Given the description of an element on the screen output the (x, y) to click on. 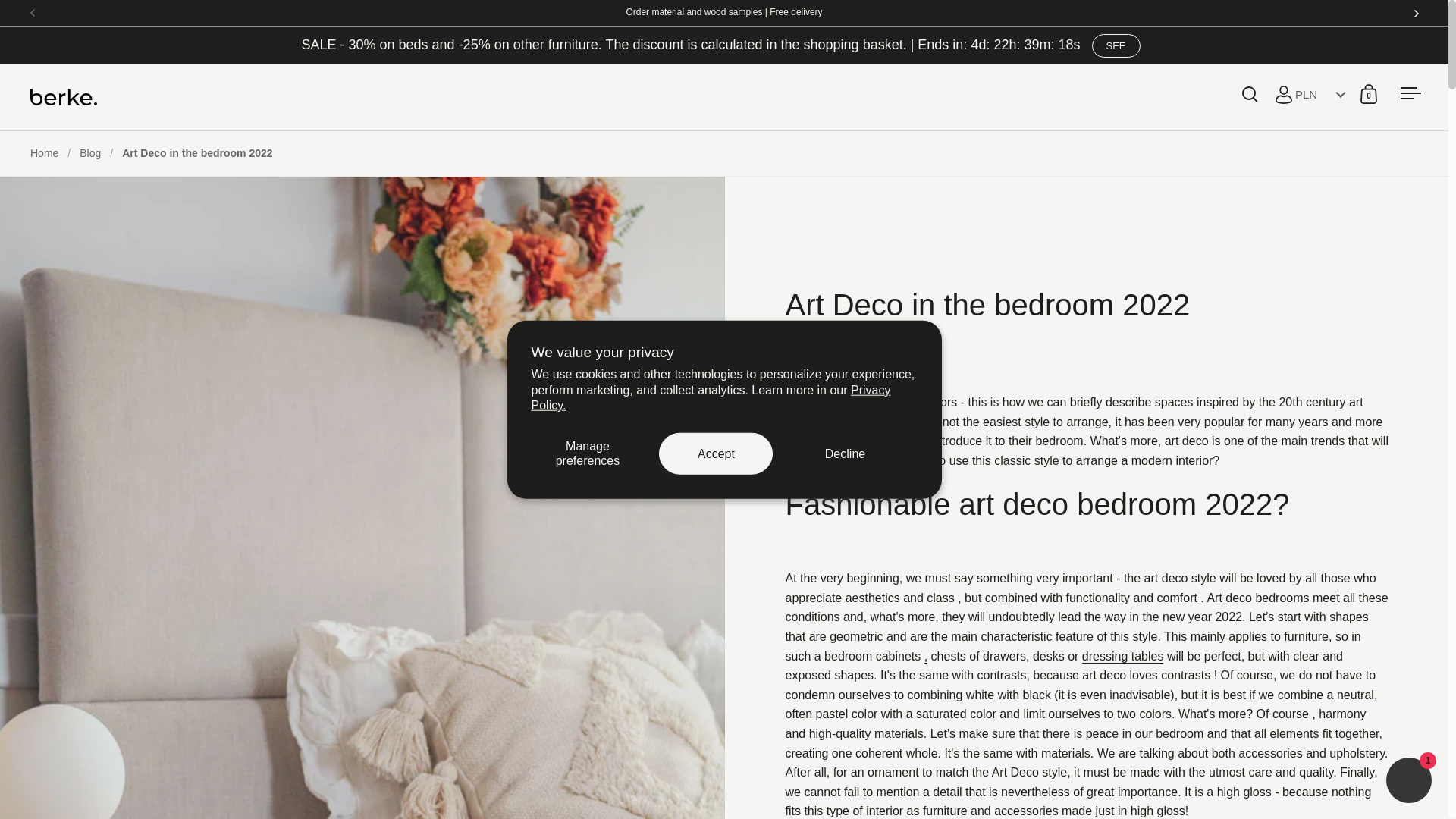
Manage preferences (587, 453)
Open menu (1409, 93)
Shopify online store chat (1408, 781)
Accept (716, 453)
SEE (1116, 45)
Privacy Policy. (710, 397)
Decline (844, 453)
Open search (1249, 93)
Open cart (1369, 93)
